Given the description of an element on the screen output the (x, y) to click on. 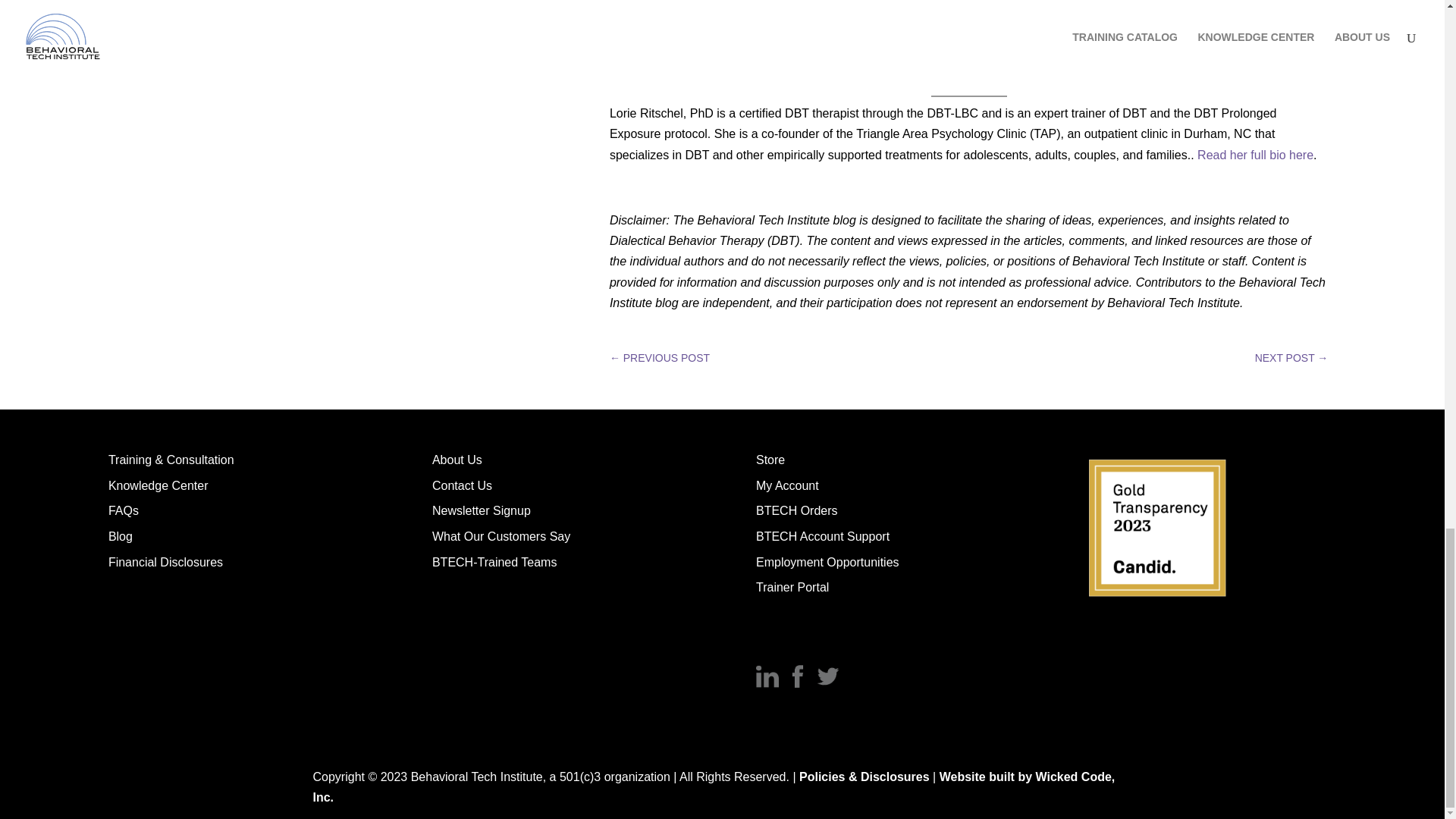
Read here for a blog from Carla Chugani on (729, 66)
CandidGoldSeal2023 (1156, 527)
